Given the description of an element on the screen output the (x, y) to click on. 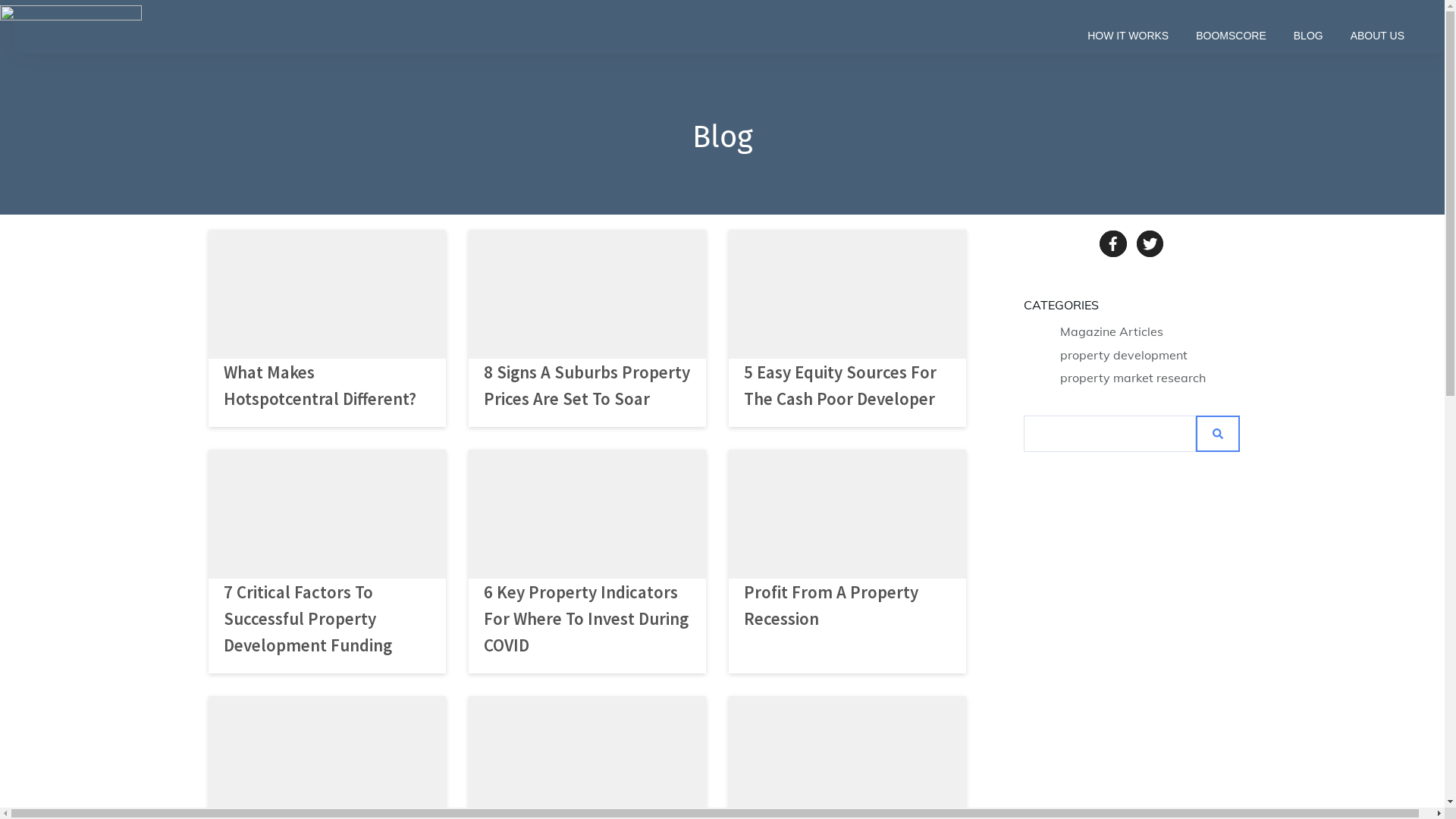
Profit From A Property Recession Element type: text (830, 604)
Magazine Articles Element type: text (1111, 331)
ABOUT US Element type: text (1377, 35)
BOOMSCORE Element type: text (1230, 35)
5 Easy Equity Sources For The Cash Poor Developer Element type: text (839, 384)
HOW IT WORKS Element type: text (1127, 35)
6 Key Property Indicators For Where To Invest During COVID Element type: text (585, 617)
BLOG Element type: text (1308, 35)
8 Signs A Suburbs Property Prices Are Set To Soar Element type: text (586, 384)
property market research Element type: text (1132, 377)
property development Element type: text (1123, 354)
What Makes Hotspotcentral Different? Element type: text (318, 384)
